Given the description of an element on the screen output the (x, y) to click on. 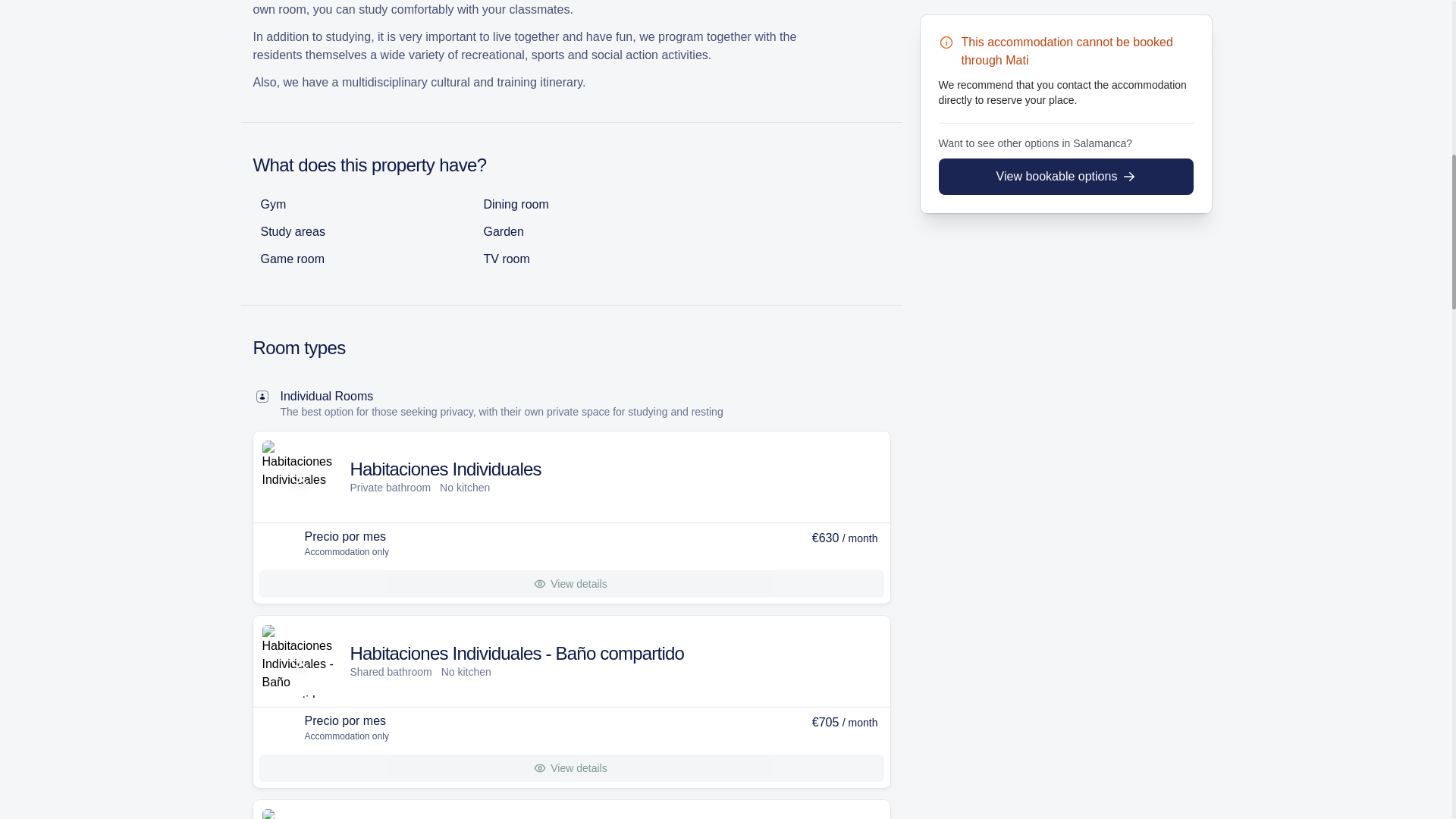
View details (571, 583)
View details (571, 768)
View bookable options (1066, 19)
